Given the description of an element on the screen output the (x, y) to click on. 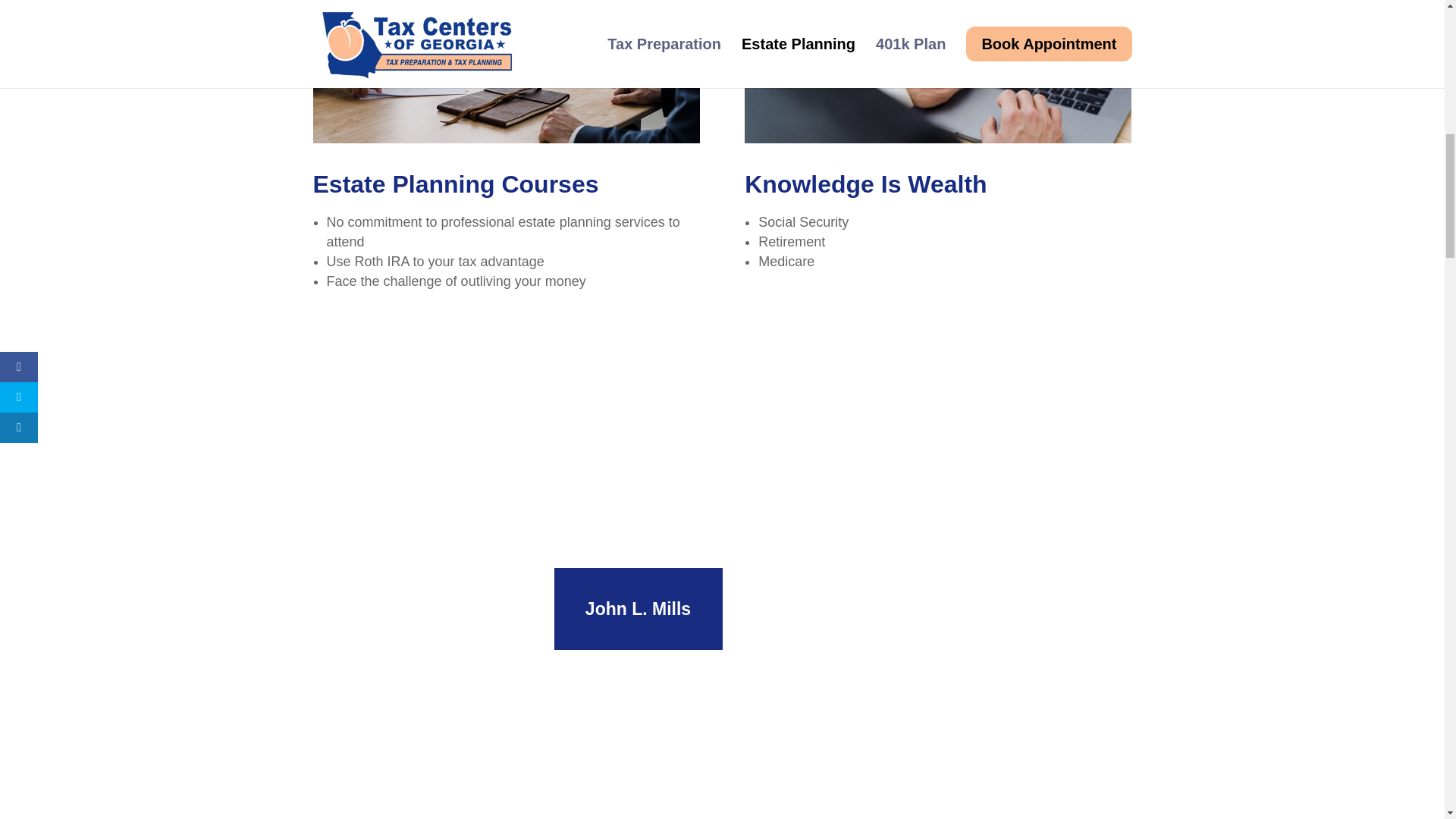
John L. Mills, A Trusted Estate Planner (432, 742)
Accountant-Image-36 (505, 71)
Accountant-Image-35 (937, 71)
